Given the description of an element on the screen output the (x, y) to click on. 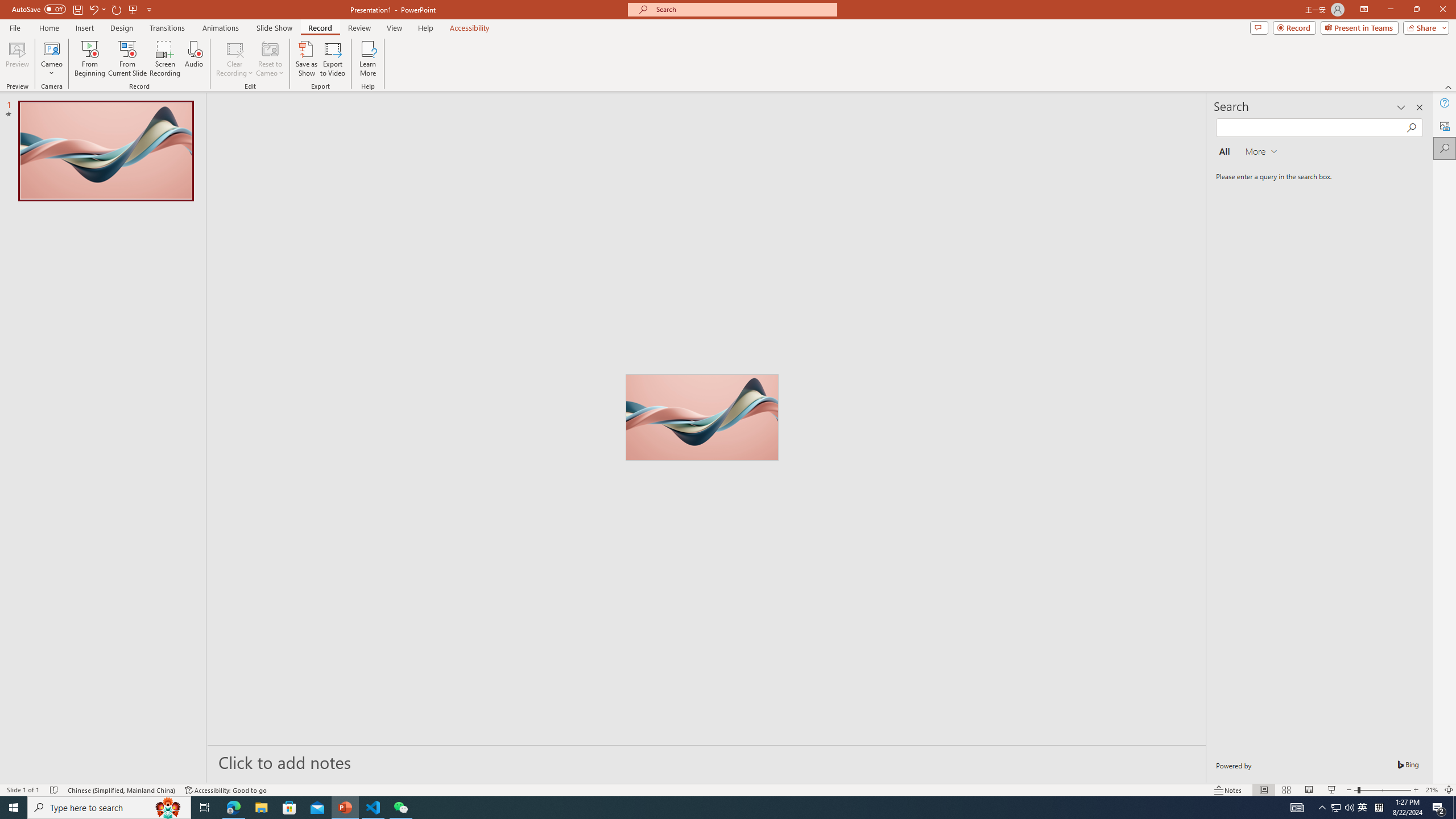
From Current Slide... (127, 58)
Reset to Cameo (269, 58)
Save as Show (306, 58)
